Given the description of an element on the screen output the (x, y) to click on. 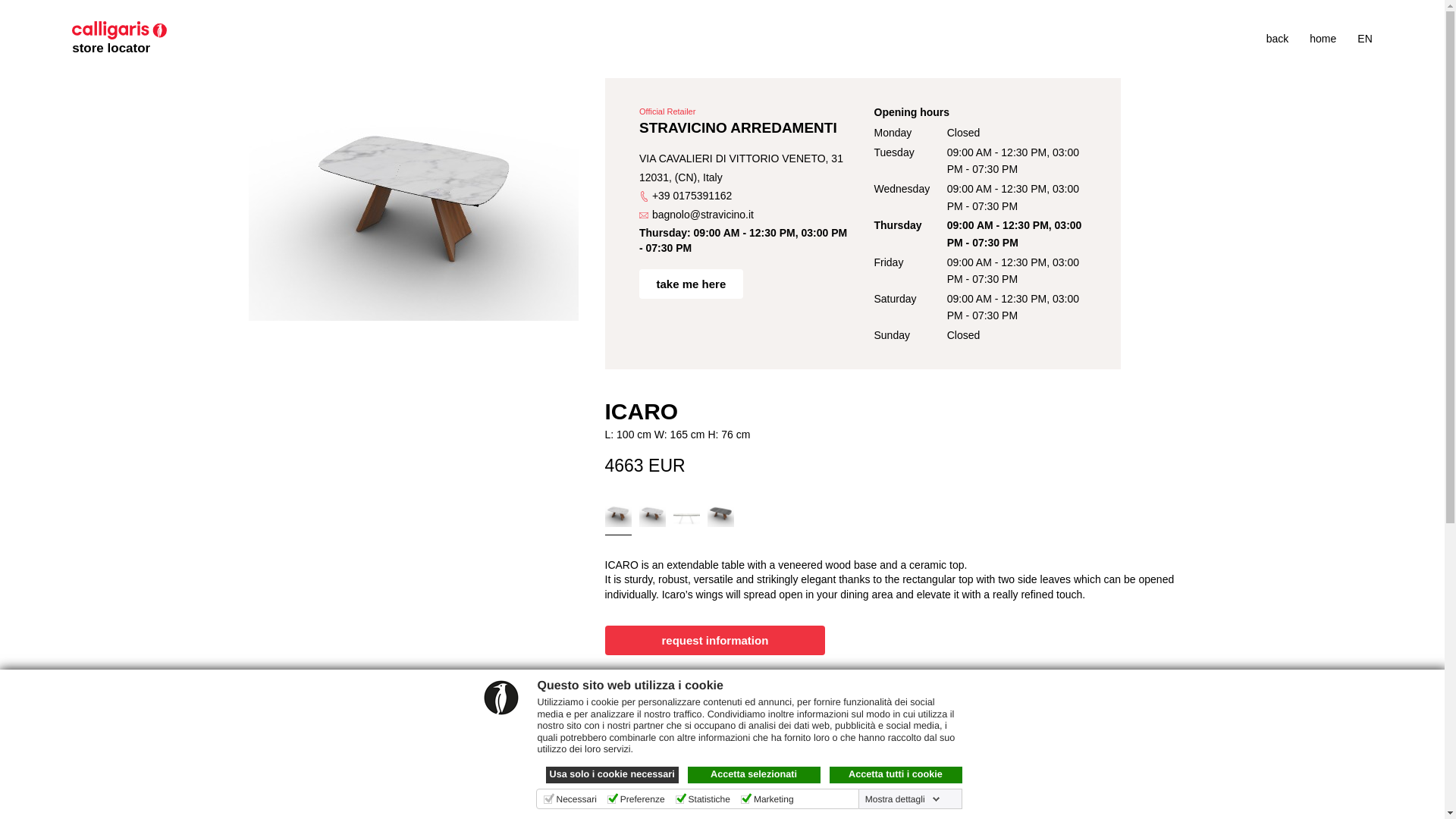
Accetta selezionati (753, 774)
Accetta tutti i cookie (895, 774)
Usa solo i cookie necessari (612, 774)
Mostra dettagli (902, 799)
